Given the description of an element on the screen output the (x, y) to click on. 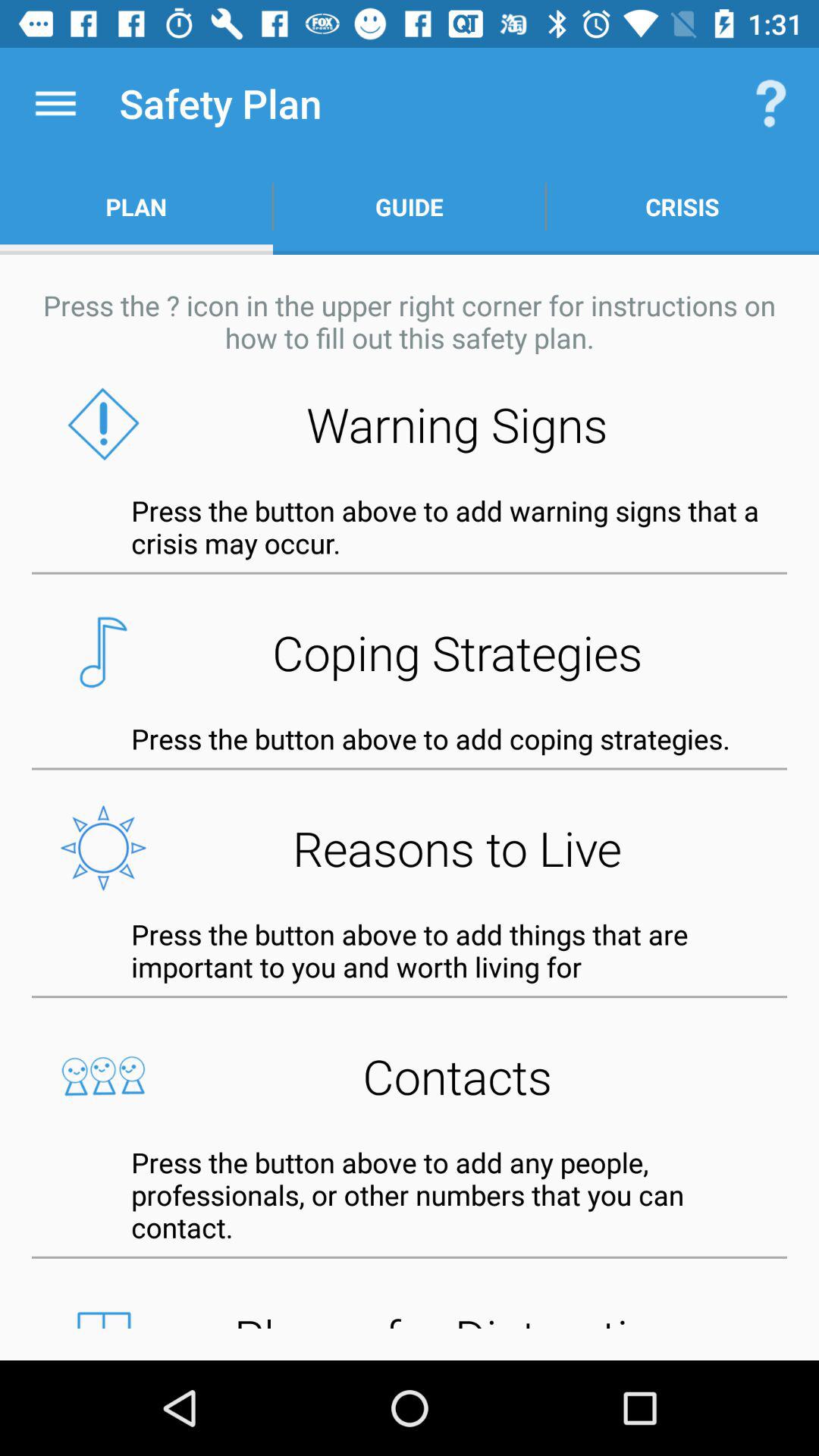
press the app above press the button (409, 1075)
